Given the description of an element on the screen output the (x, y) to click on. 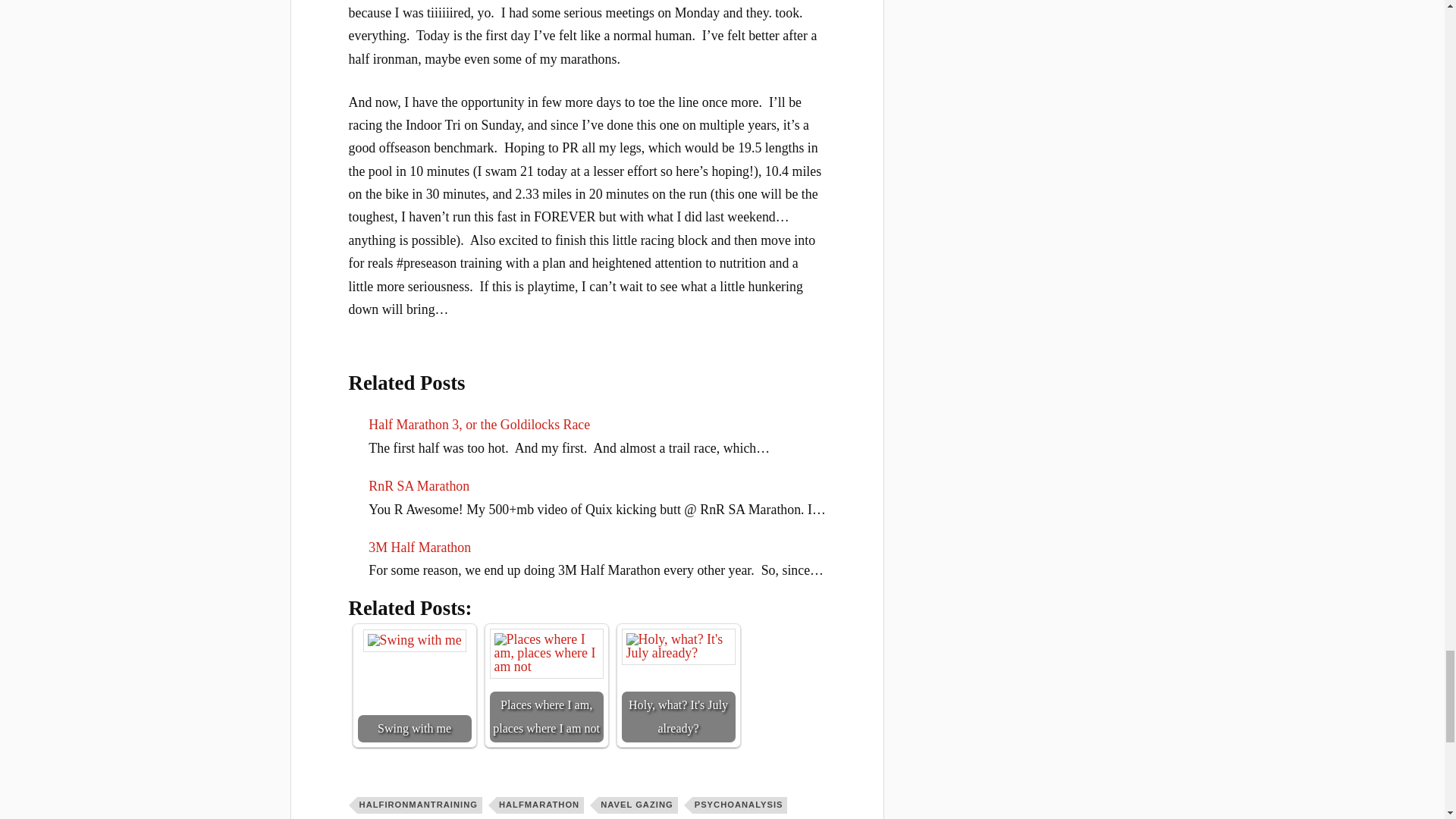
Swing with me (414, 685)
Half Marathon 3, or the Goldilocks Race (478, 424)
PSYCHOANALYSIS (740, 805)
Swing with me (413, 640)
HALFMARATHON (539, 805)
Holy, what? It's July already? (678, 646)
Places where I am, places where I am not (546, 685)
3M Half Marathon (419, 547)
HALFIRONMANTRAINING (418, 805)
NAVEL GAZING (638, 805)
